Given the description of an element on the screen output the (x, y) to click on. 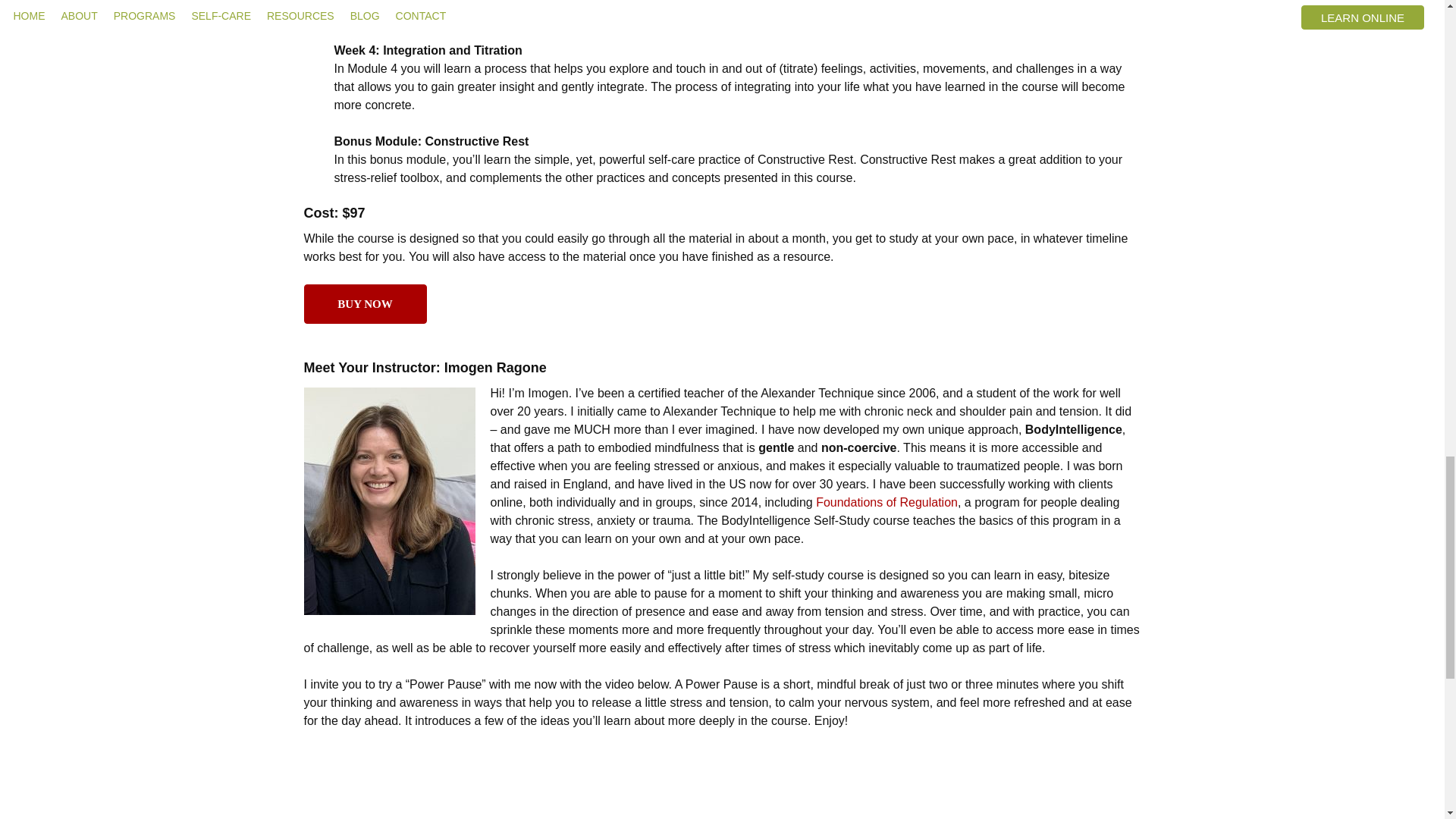
BUY NOW (364, 303)
A Power Pause to Calm Your Nervous System (721, 783)
Foundations of Regulation (886, 502)
